Given the description of an element on the screen output the (x, y) to click on. 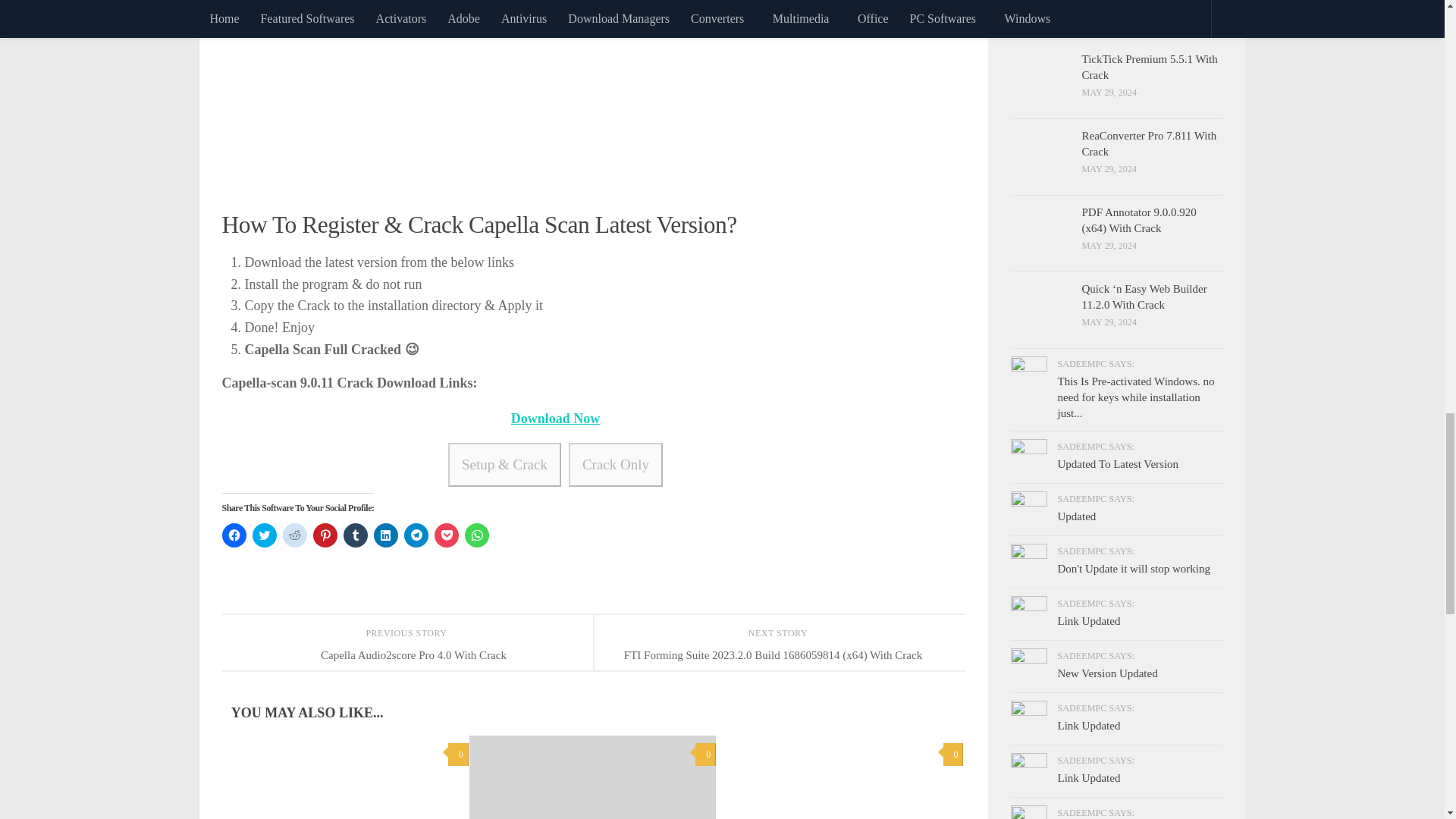
Click to share on Tumblr (354, 535)
Click to share on Telegram (415, 535)
Click to share on Reddit (293, 535)
Click to share on Pinterest (324, 535)
Click to share on Twitter (263, 535)
Click to share on Facebook (233, 535)
Click to share on LinkedIn (384, 535)
